Given the description of an element on the screen output the (x, y) to click on. 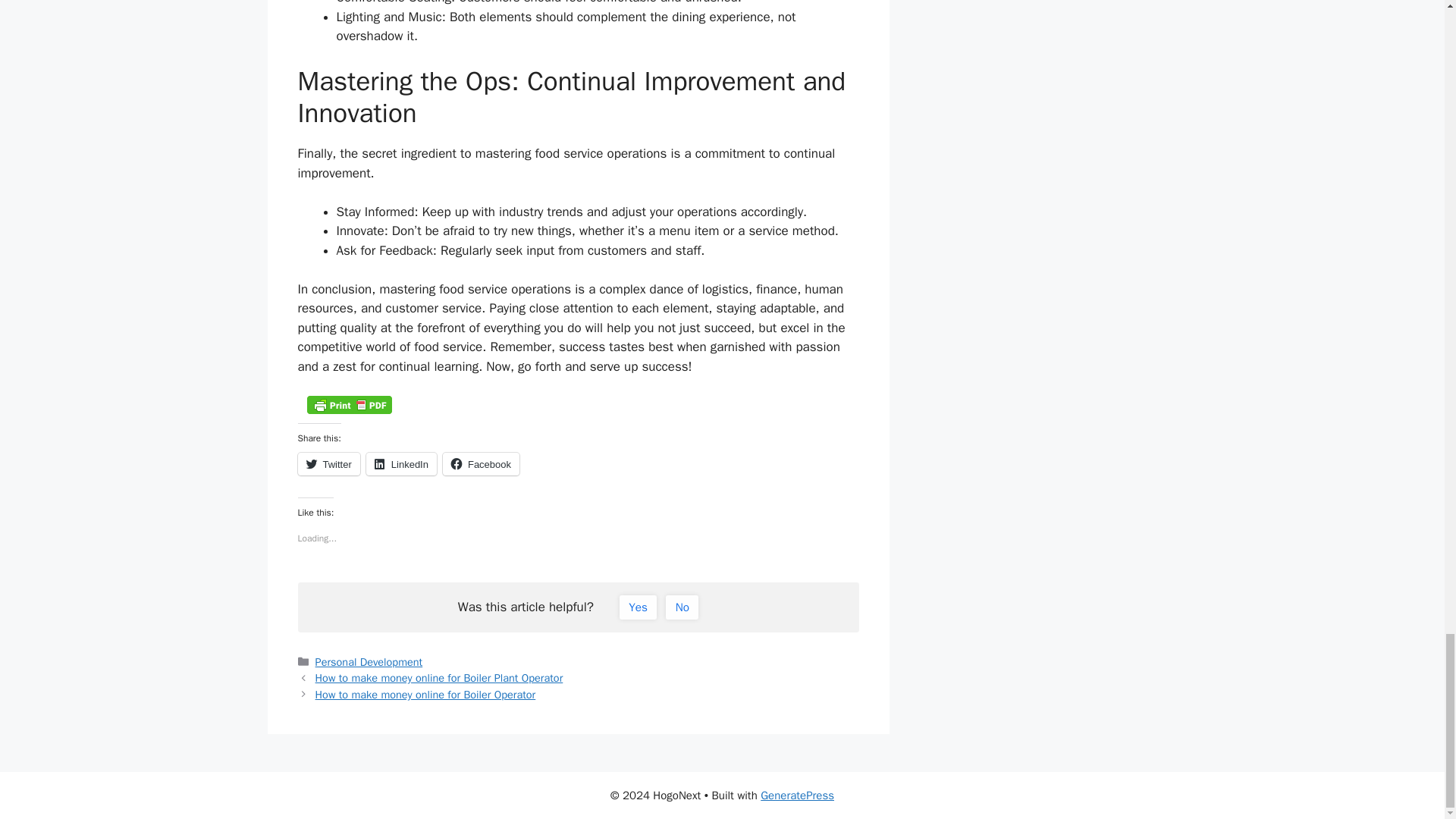
Click to share on Twitter (328, 463)
LinkedIn (401, 463)
Click to share on Facebook (480, 463)
Facebook (480, 463)
How to make money online for Boiler Operator (425, 694)
Personal Development (369, 662)
Click to share on LinkedIn (401, 463)
Twitter (328, 463)
How to make money online for Boiler Plant Operator (439, 677)
